Given the description of an element on the screen output the (x, y) to click on. 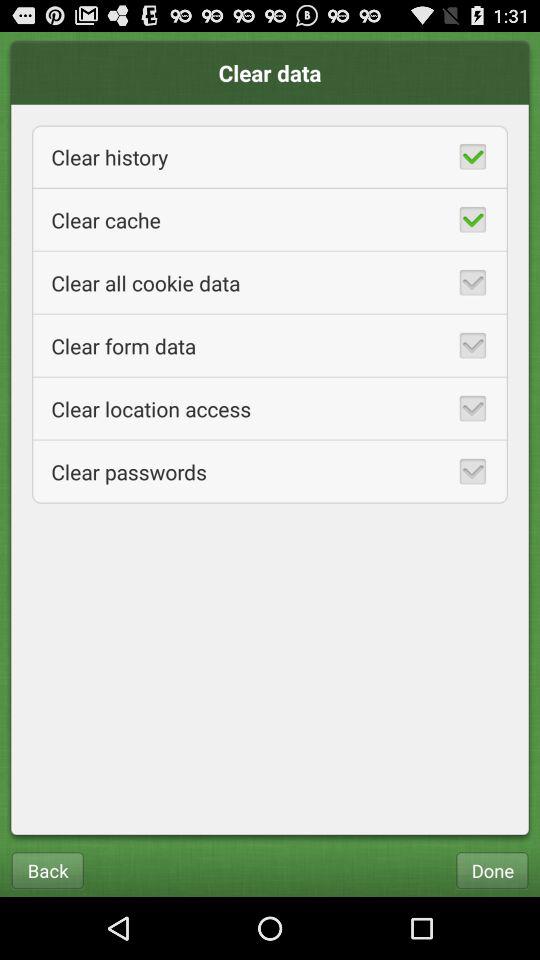
turn on the item above clear form data item (269, 282)
